Given the description of an element on the screen output the (x, y) to click on. 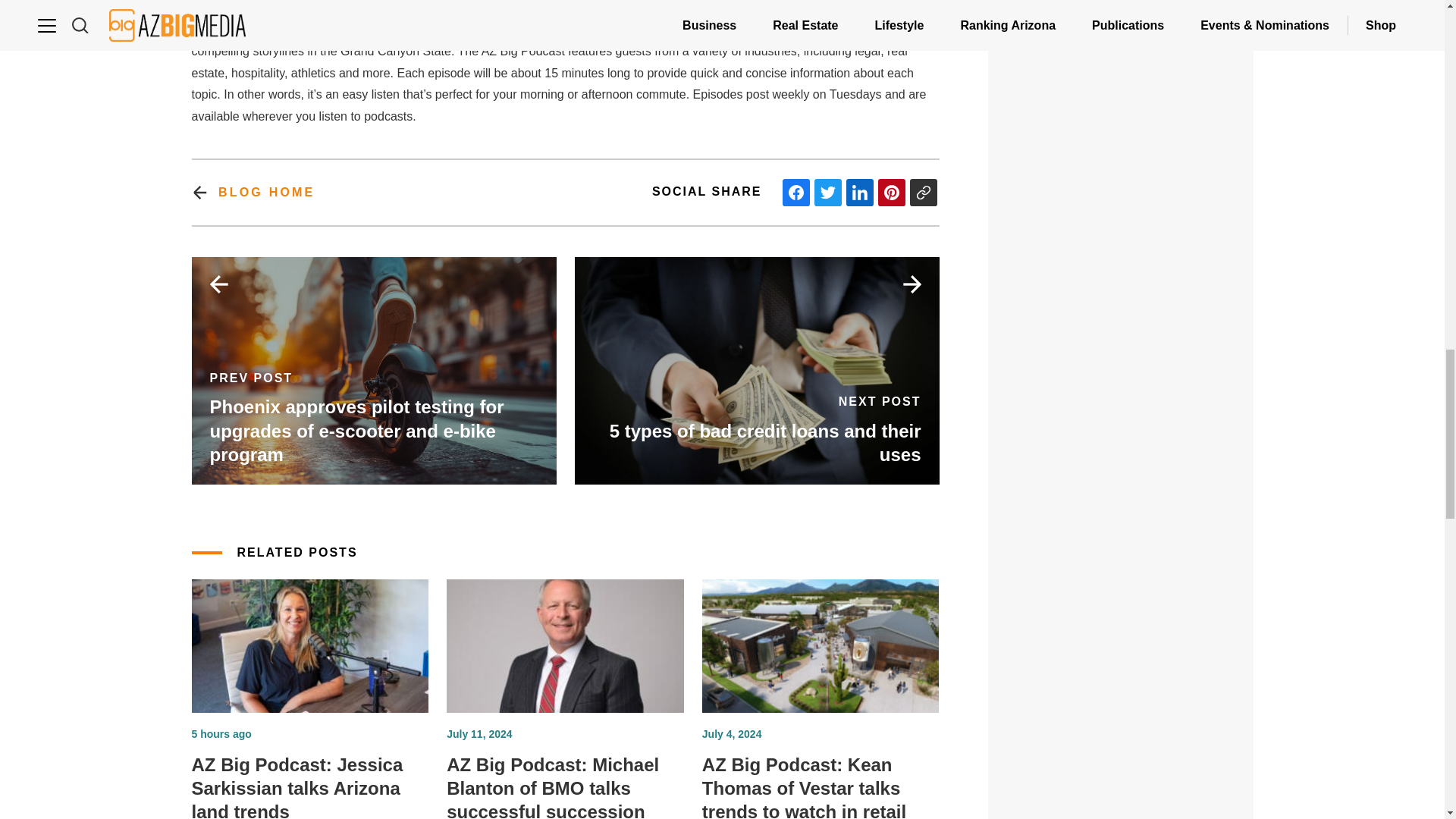
3rd party ad content (1120, 229)
